Given the description of an element on the screen output the (x, y) to click on. 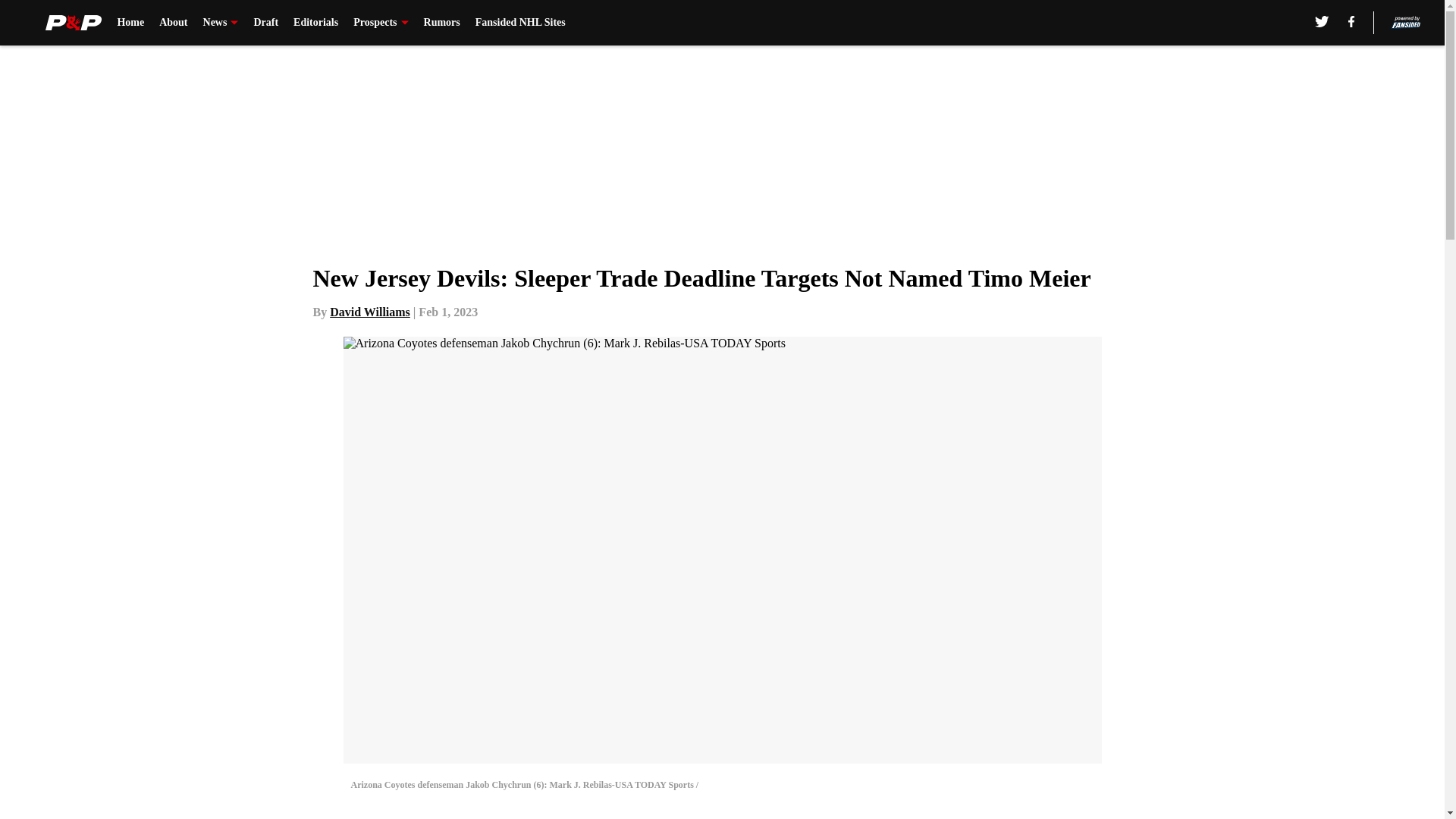
Home (130, 22)
About (172, 22)
Rumors (441, 22)
Draft (265, 22)
David Williams (370, 311)
Editorials (315, 22)
Fansided NHL Sites (521, 22)
